Given the description of an element on the screen output the (x, y) to click on. 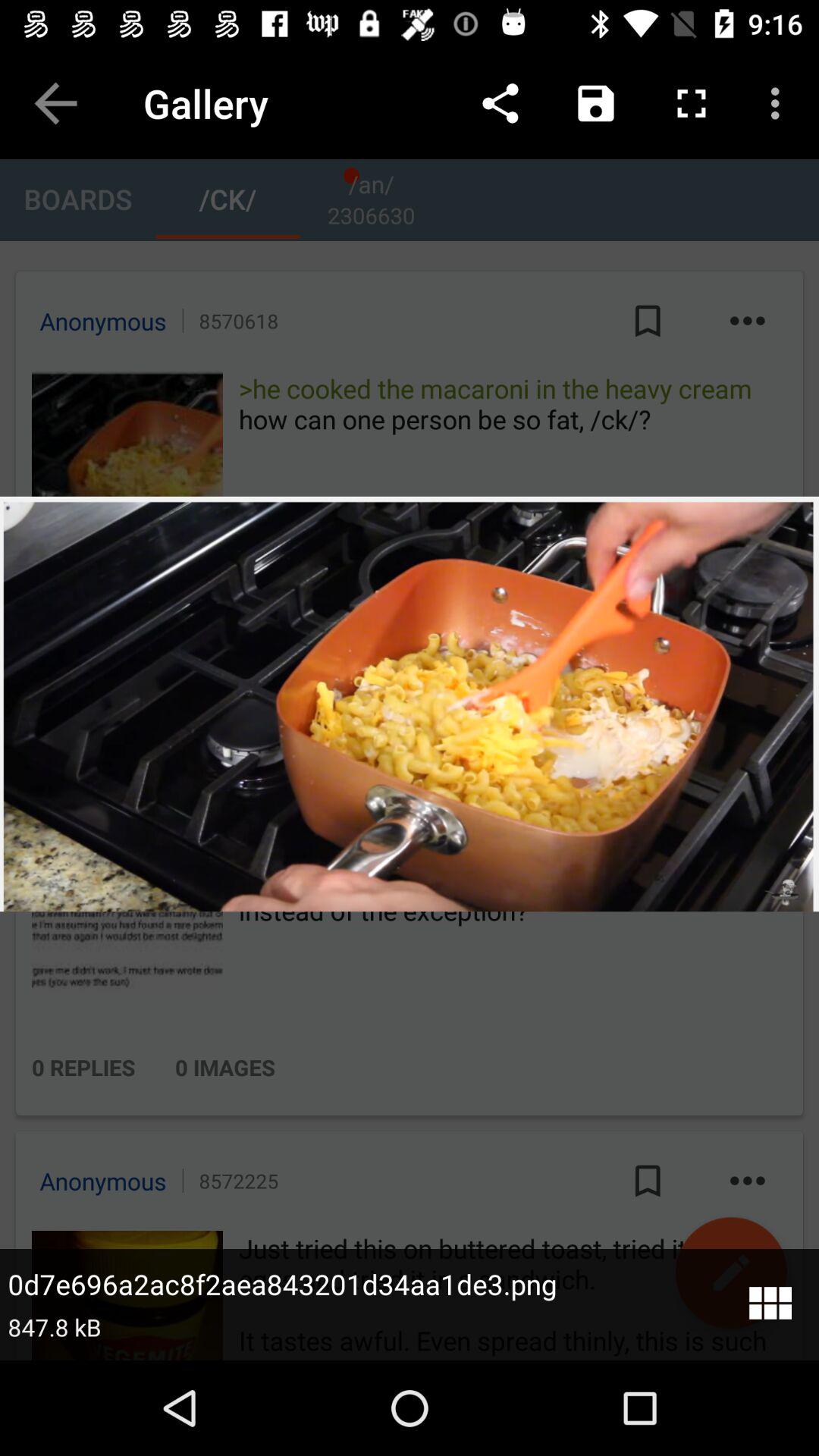
view more photos (769, 1304)
